Given the description of an element on the screen output the (x, y) to click on. 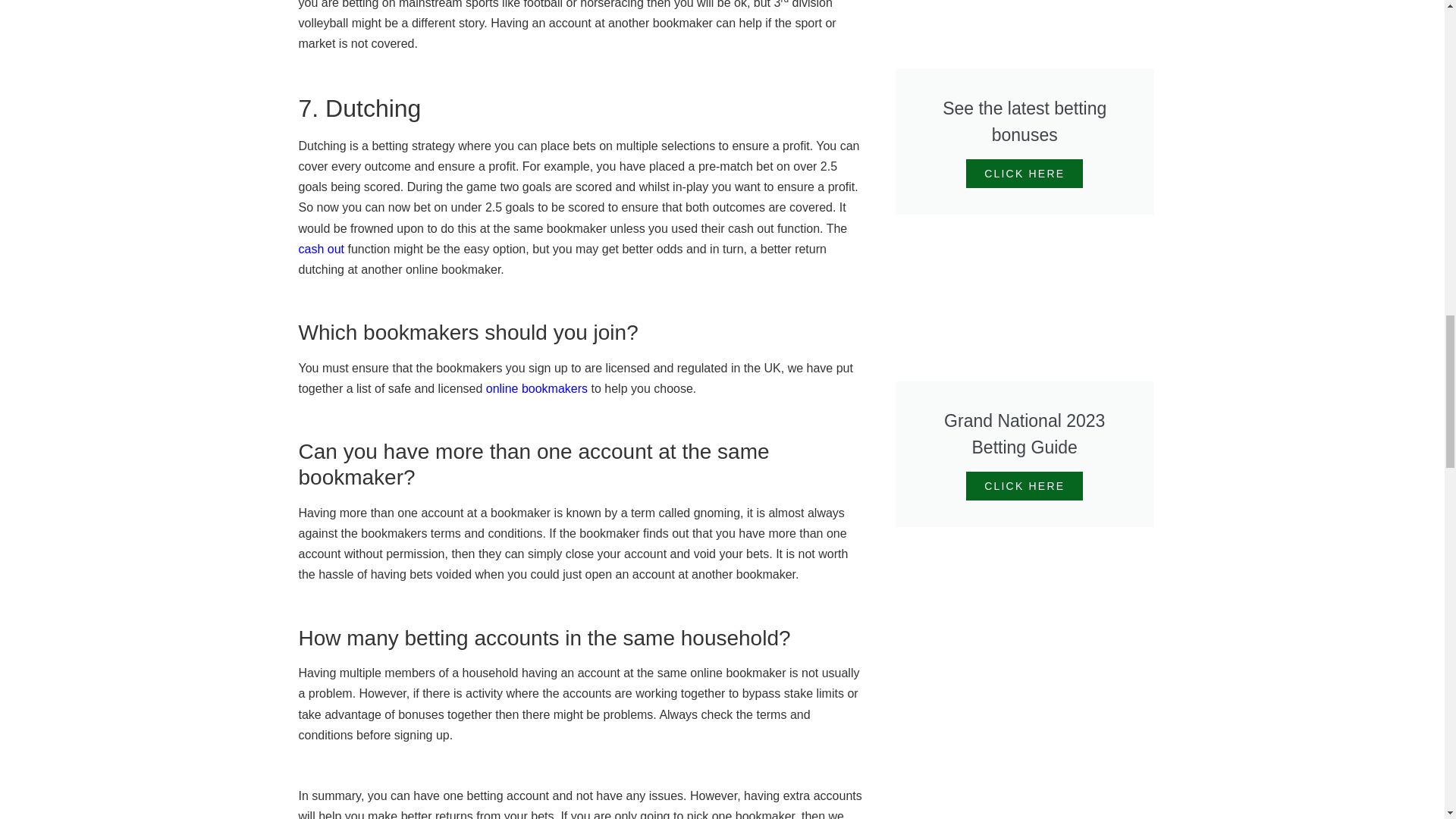
online bookmakers (537, 388)
cash out (320, 248)
